Given the description of an element on the screen output the (x, y) to click on. 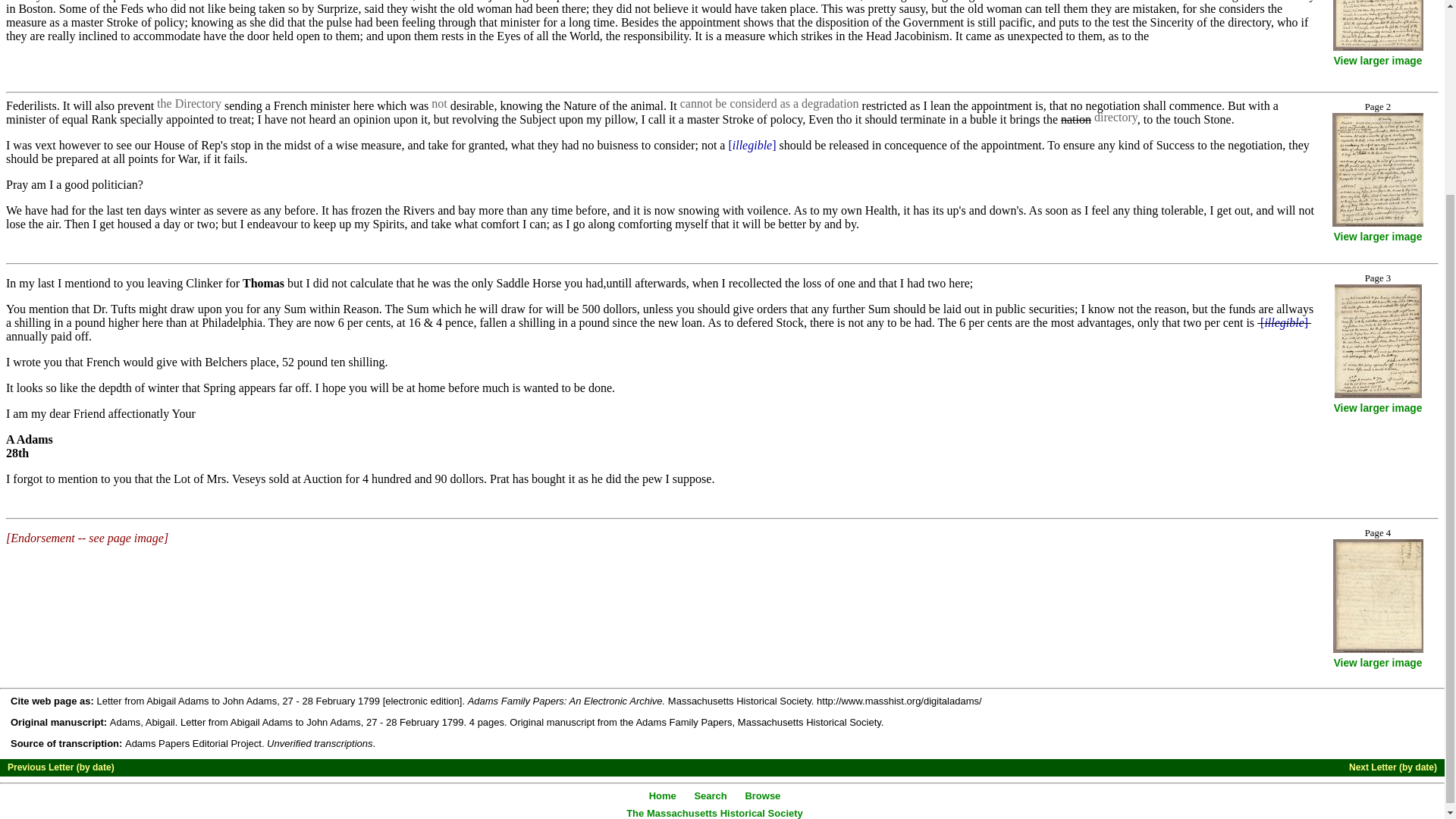
policy (786, 119)
Federalists (32, 105)
View larger image (1377, 408)
Home (663, 795)
returned (778, 0)
View larger image (1377, 60)
considered (752, 103)
View larger image (1377, 663)
pillar (619, 119)
Search (710, 795)
Plenipotentiary (106, 0)
astonished (307, 0)
View larger image (1377, 236)
Federalist (389, 0)
Browse (762, 795)
